Given the description of an element on the screen output the (x, y) to click on. 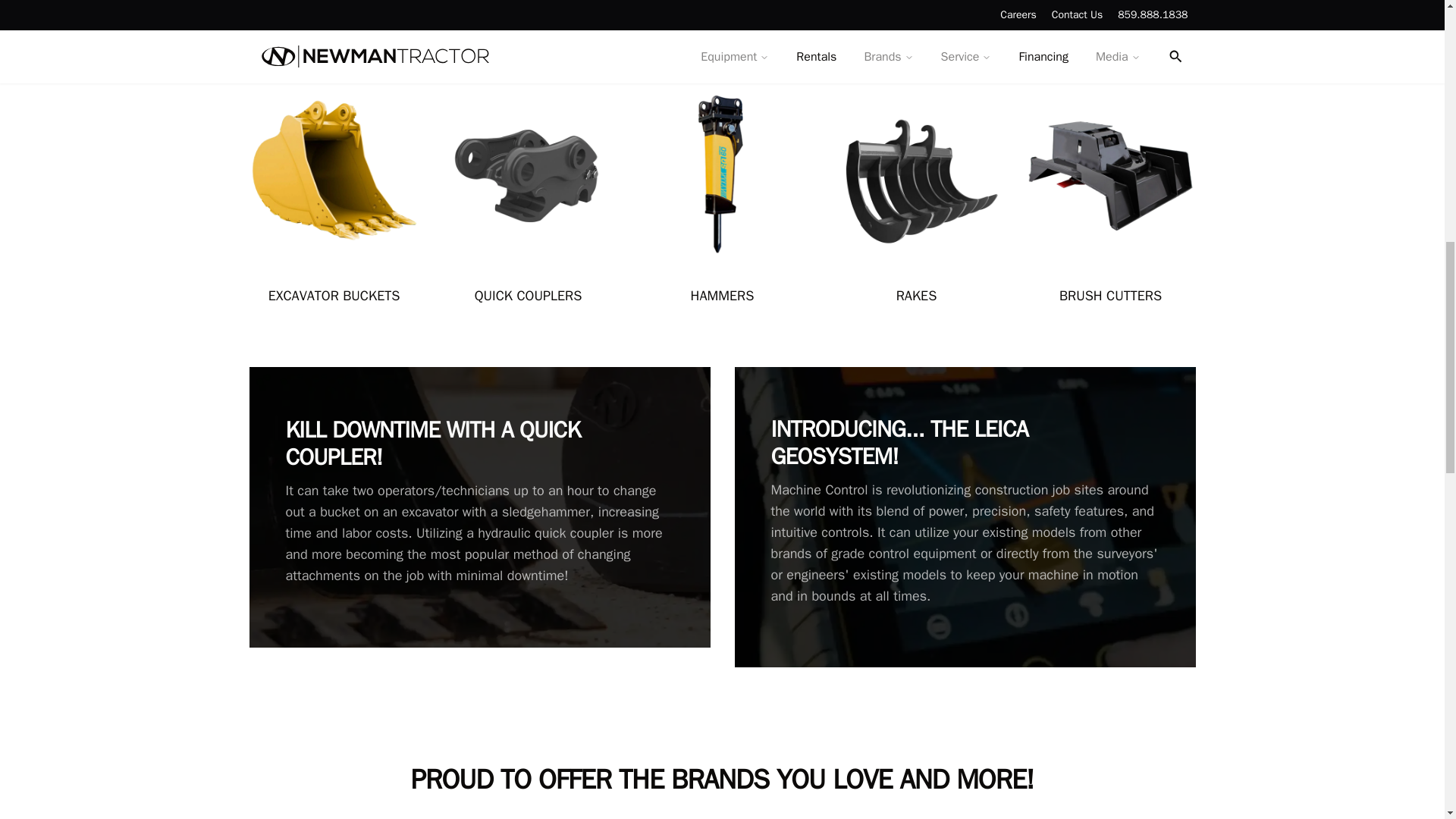
Hammer (721, 295)
Excavator Bucket (333, 295)
Excavator Coupler (527, 295)
RAKES (916, 295)
QUICK COUPLERS (527, 295)
EXCAVATOR BUCKETS (333, 295)
BRUSH CUTTERS (1110, 295)
KILL DOWNTIME WITH A QUICK COUPLER! (478, 443)
PROUD TO OFFER THE BRANDS YOU LOVE AND MORE! (721, 779)
HAMMERS (721, 295)
